Given the description of an element on the screen output the (x, y) to click on. 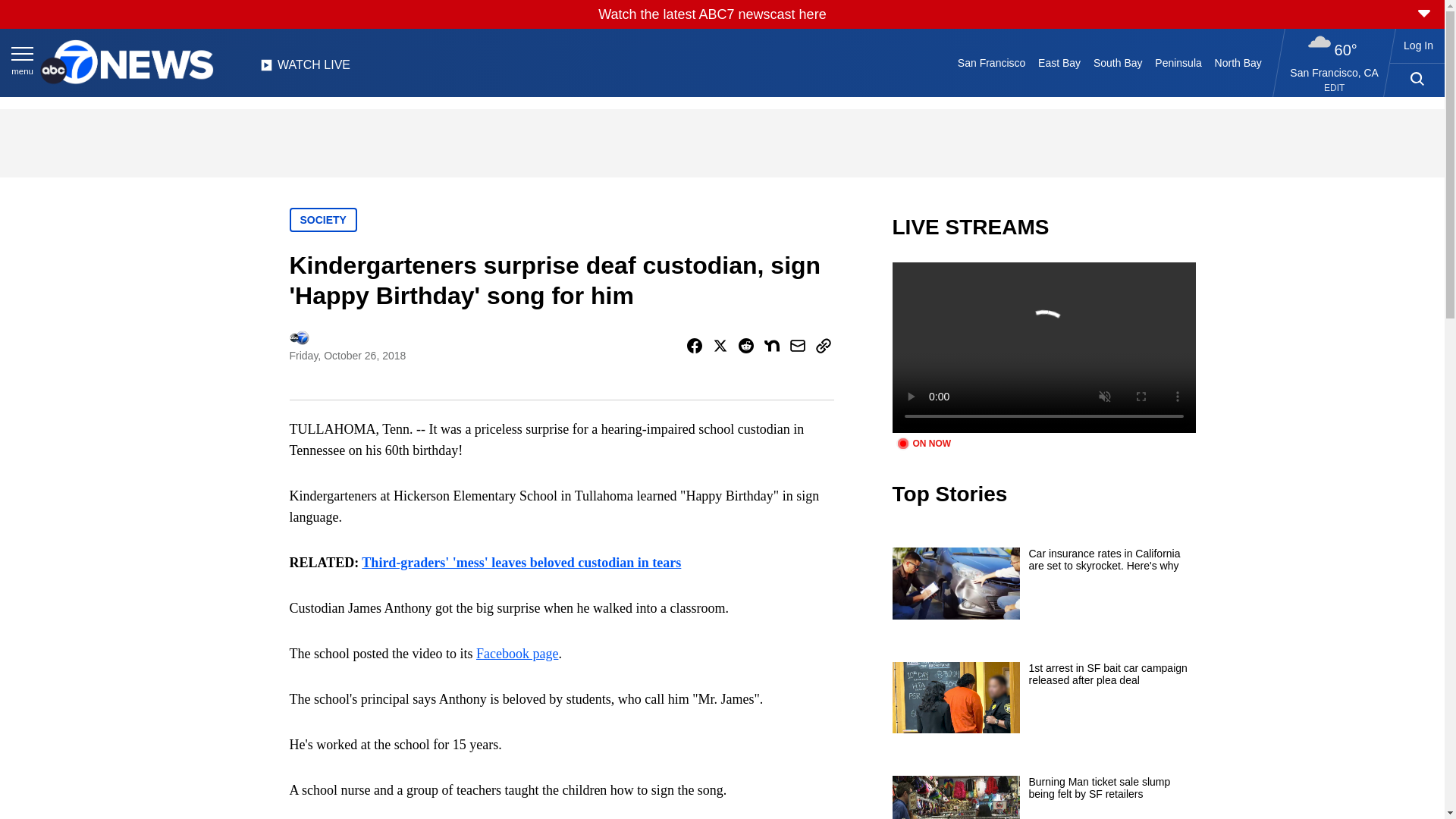
San Francisco, CA (1334, 72)
East Bay (1059, 62)
video.title (1043, 347)
North Bay (1238, 62)
WATCH LIVE (305, 69)
San Francisco (990, 62)
EDIT (1333, 87)
Peninsula (1178, 62)
South Bay (1117, 62)
